Given the description of an element on the screen output the (x, y) to click on. 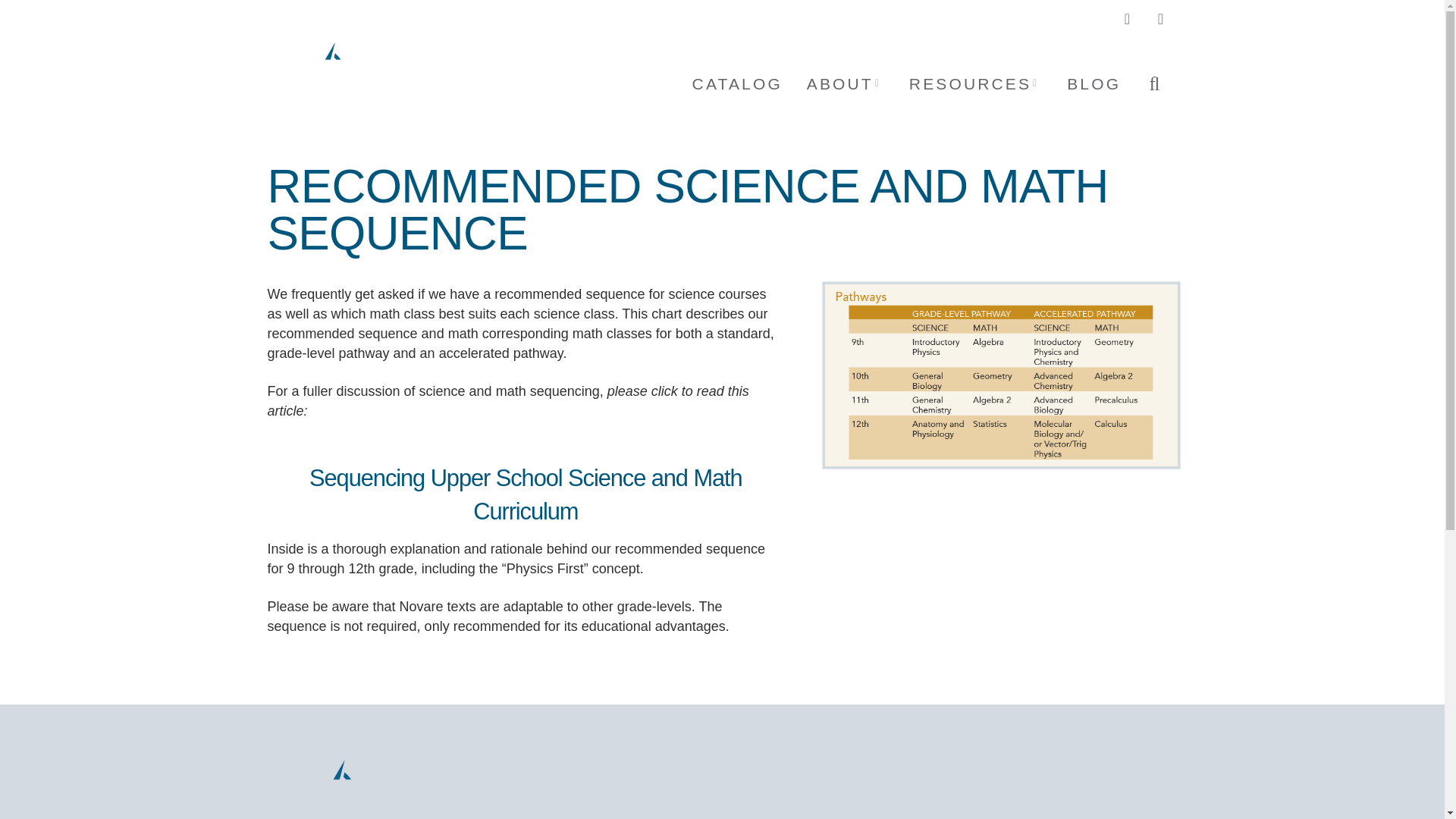
CATALOG (735, 82)
ABOUT (844, 82)
Sequencing Upper School Science and Math Curriculum (525, 494)
RESOURCES (973, 82)
